Given the description of an element on the screen output the (x, y) to click on. 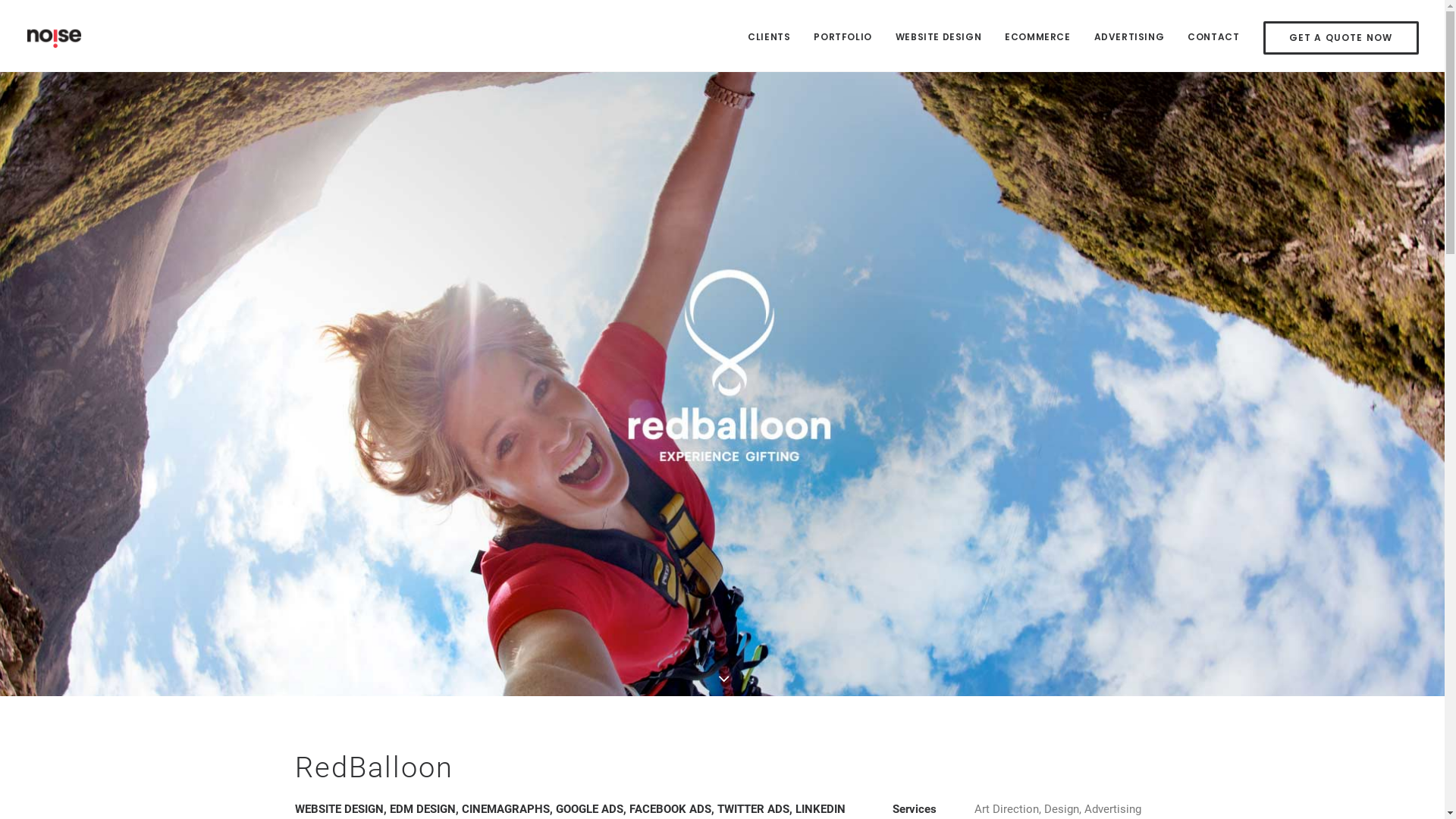
CLIENTS Element type: text (773, 35)
PORTFOLIO Element type: text (842, 35)
WEBSITE DESIGN Element type: text (937, 35)
GET A QUOTE NOW Element type: text (1335, 37)
ADVERTISING Element type: text (1129, 35)
CONTACT Element type: text (1212, 35)
ECOMMERCE Element type: text (1037, 35)
